Given the description of an element on the screen output the (x, y) to click on. 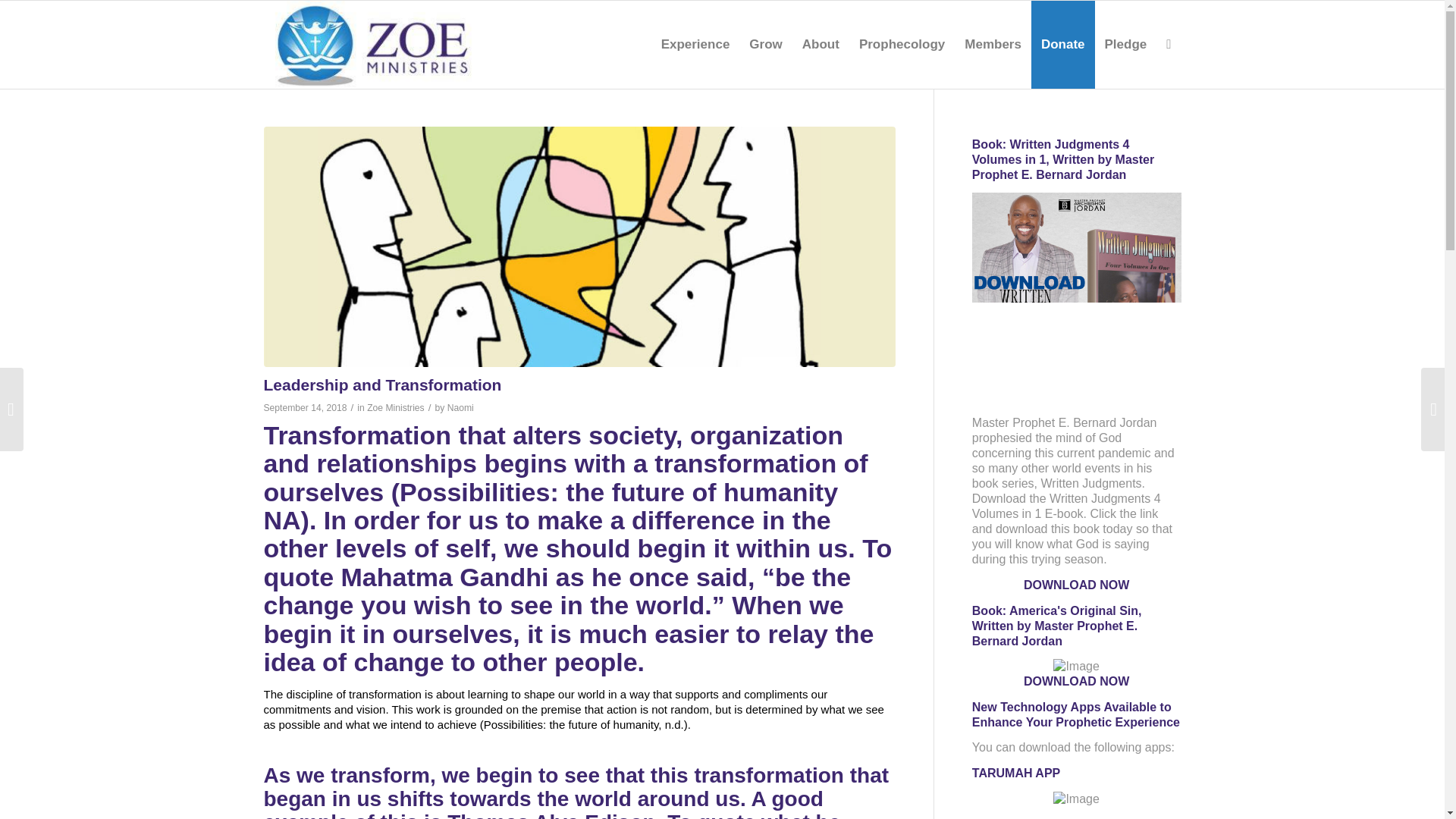
Image (1075, 798)
Image (1075, 666)
Posts by Naomi (460, 407)
Image (1076, 297)
DOWNLOAD NOW (1076, 584)
Experience (694, 44)
Zoe Ministries (395, 407)
DOWNLOAD NOW (1076, 680)
Naomi (460, 407)
